Given the description of an element on the screen output the (x, y) to click on. 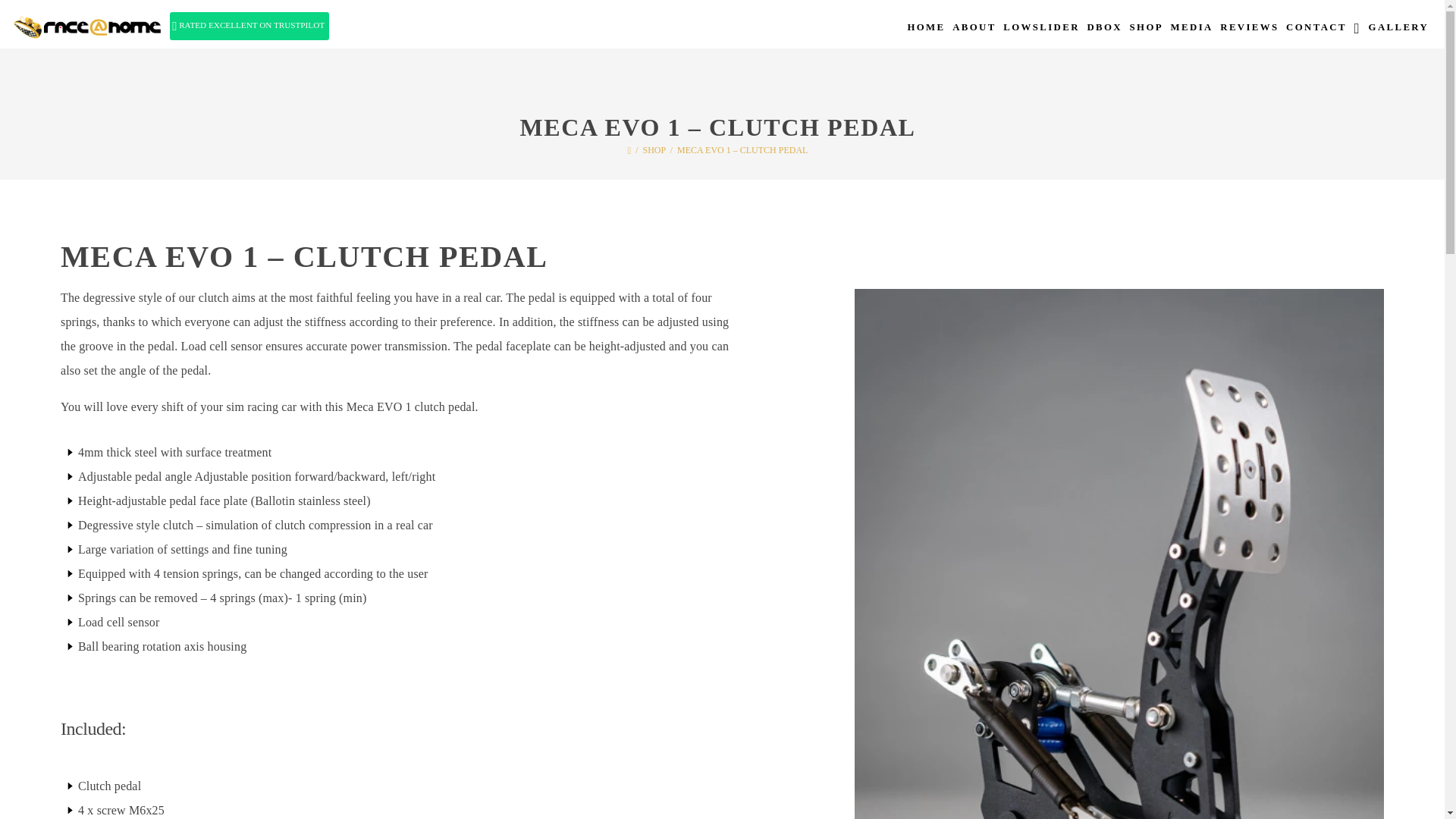
GALLERY (1398, 33)
HOME (926, 33)
REVIEWS (1248, 33)
DBOX (1104, 33)
ABOUT (973, 33)
LOWSLIDER (1040, 33)
SHOP (1146, 33)
Race at Home Home (81, 25)
MEDIA (1192, 33)
CONTACT (1315, 33)
